Given the description of an element on the screen output the (x, y) to click on. 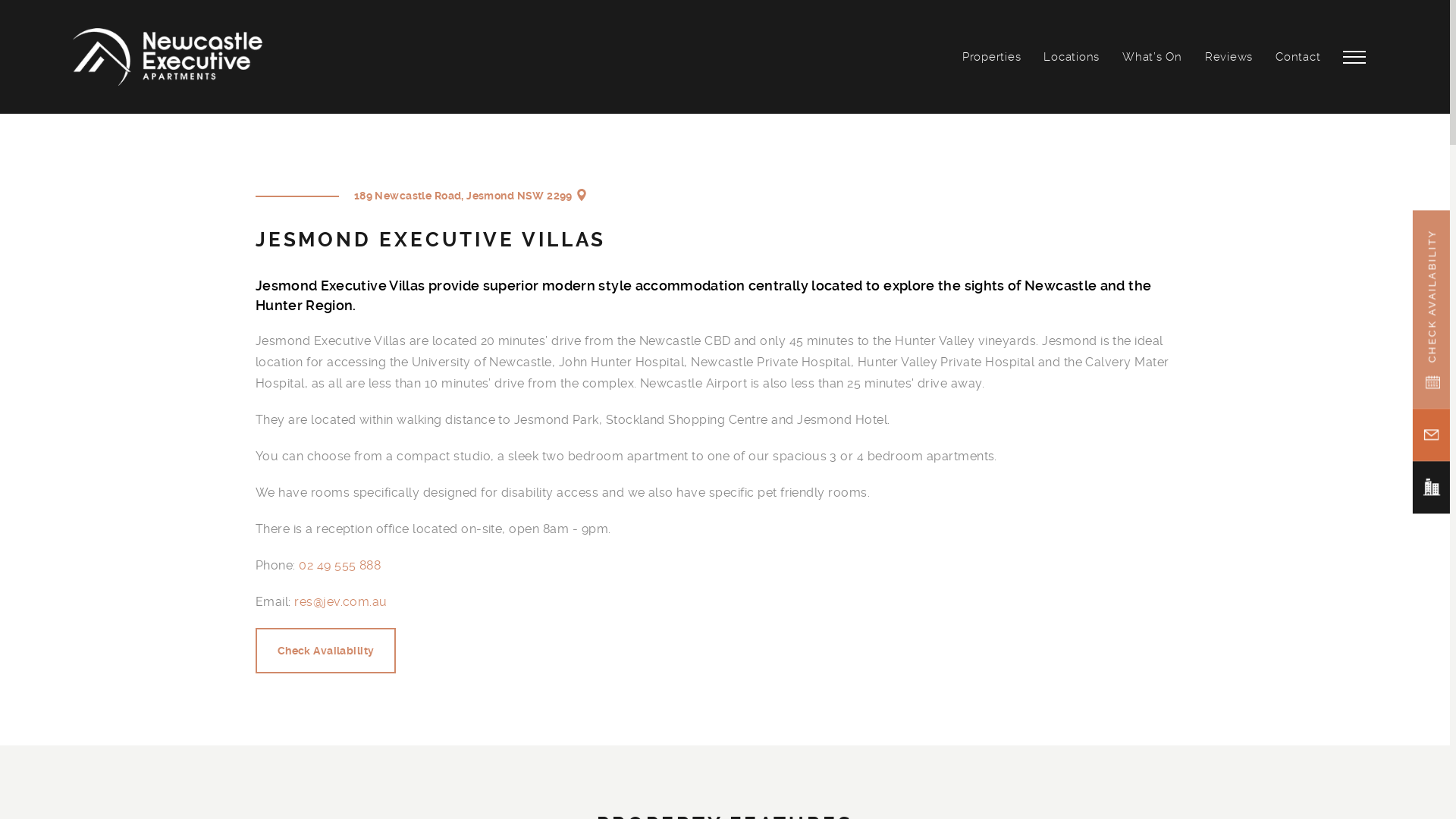
189 Newcastle Road, Jesmond NSW 2299 Element type: hover (581, 195)
Check Availability Element type: text (325, 650)
Reviews Element type: text (1228, 56)
Properties Element type: text (991, 56)
res@jev.com.au Element type: text (340, 601)
Contact Element type: text (1297, 56)
02 49 555 888 Element type: text (339, 565)
Locations Element type: text (1071, 56)
Newcastle Executive Apartments Element type: hover (167, 57)
